Given the description of an element on the screen output the (x, y) to click on. 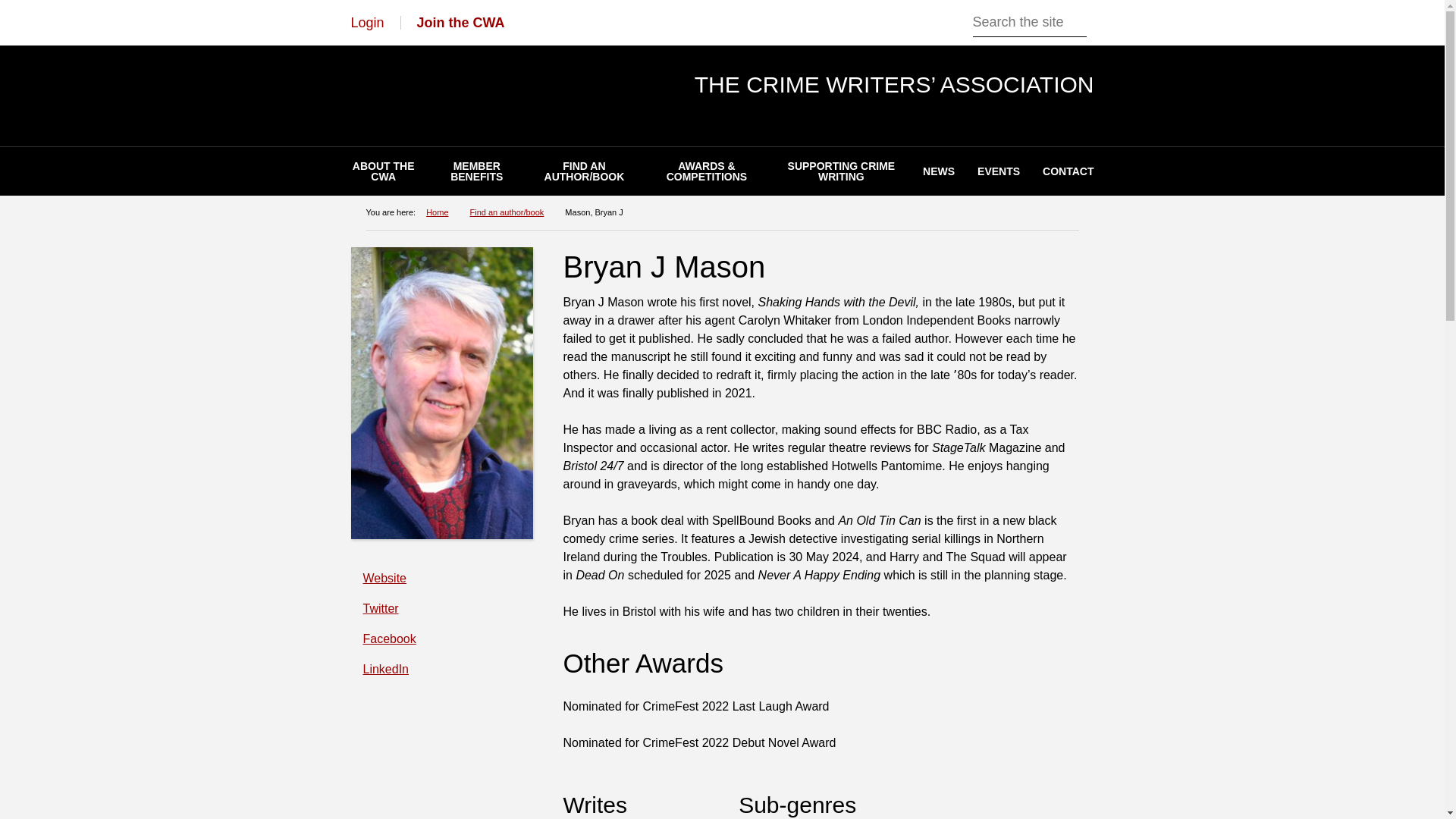
MEMBER BENEFITS (476, 171)
ABOUT THE CWA (383, 171)
Join the CWA (460, 22)
Login (367, 22)
